Given the description of an element on the screen output the (x, y) to click on. 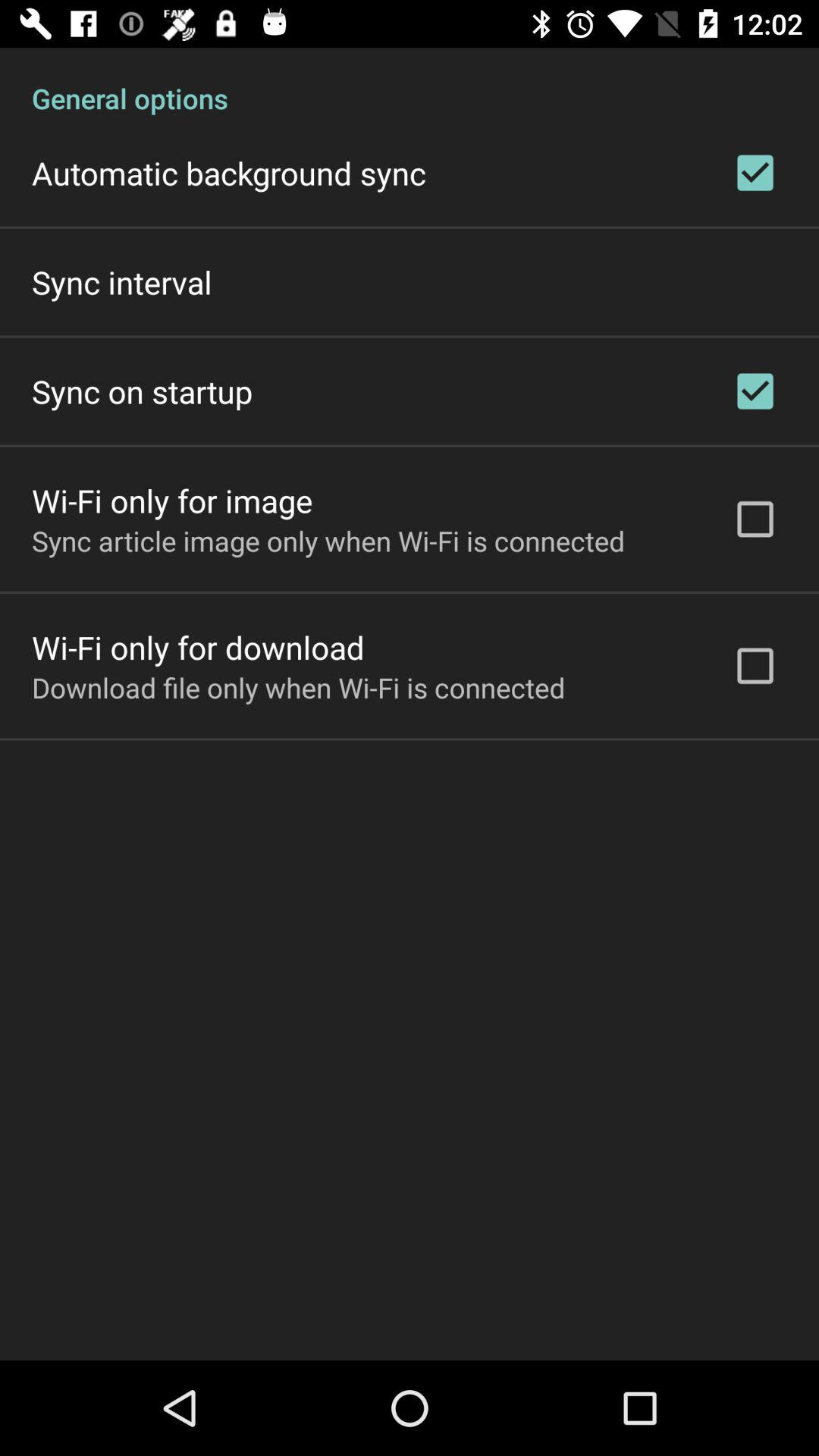
select icon above sync on startup item (121, 281)
